Given the description of an element on the screen output the (x, y) to click on. 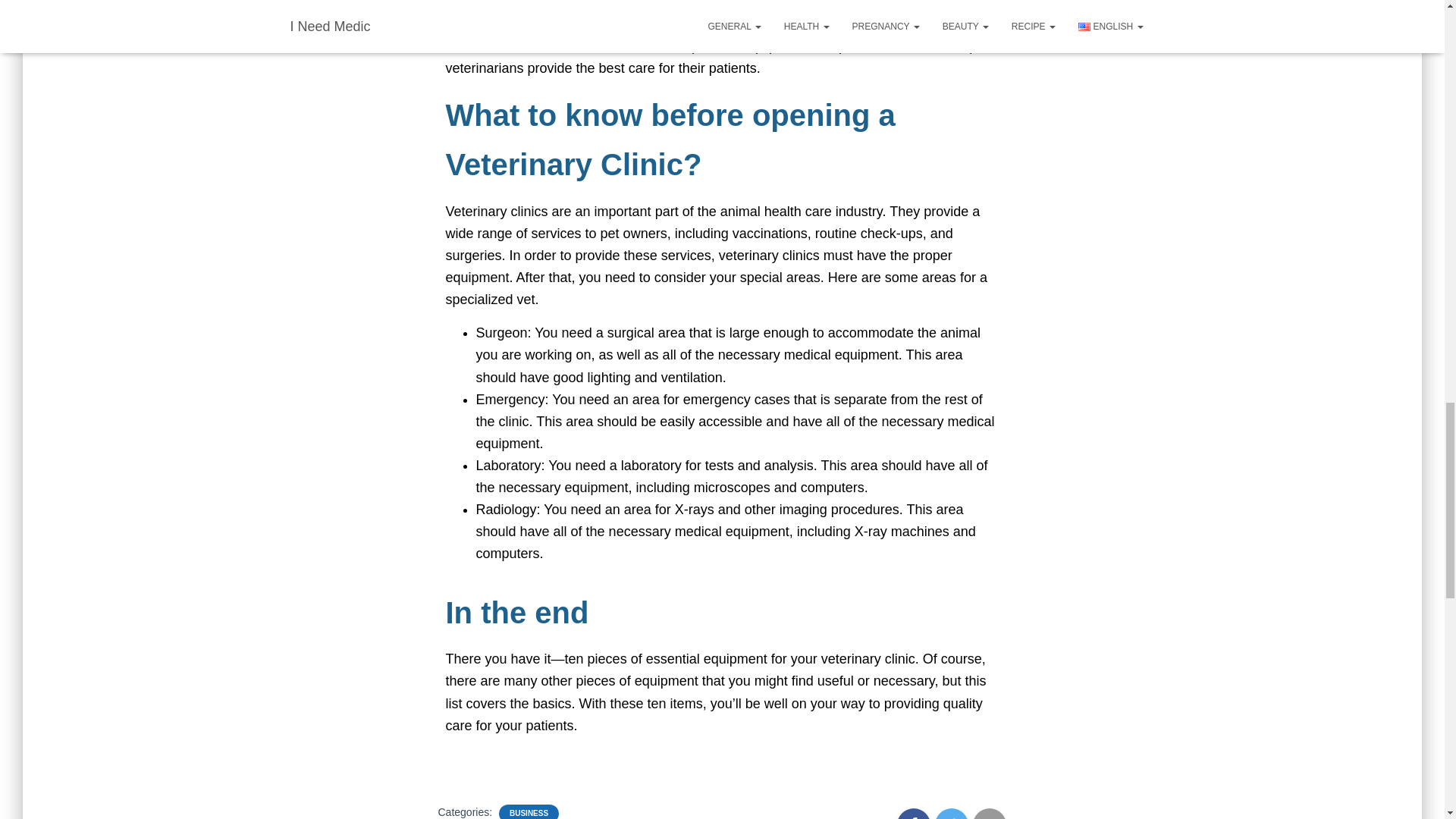
BUSINESS (529, 813)
